Given the description of an element on the screen output the (x, y) to click on. 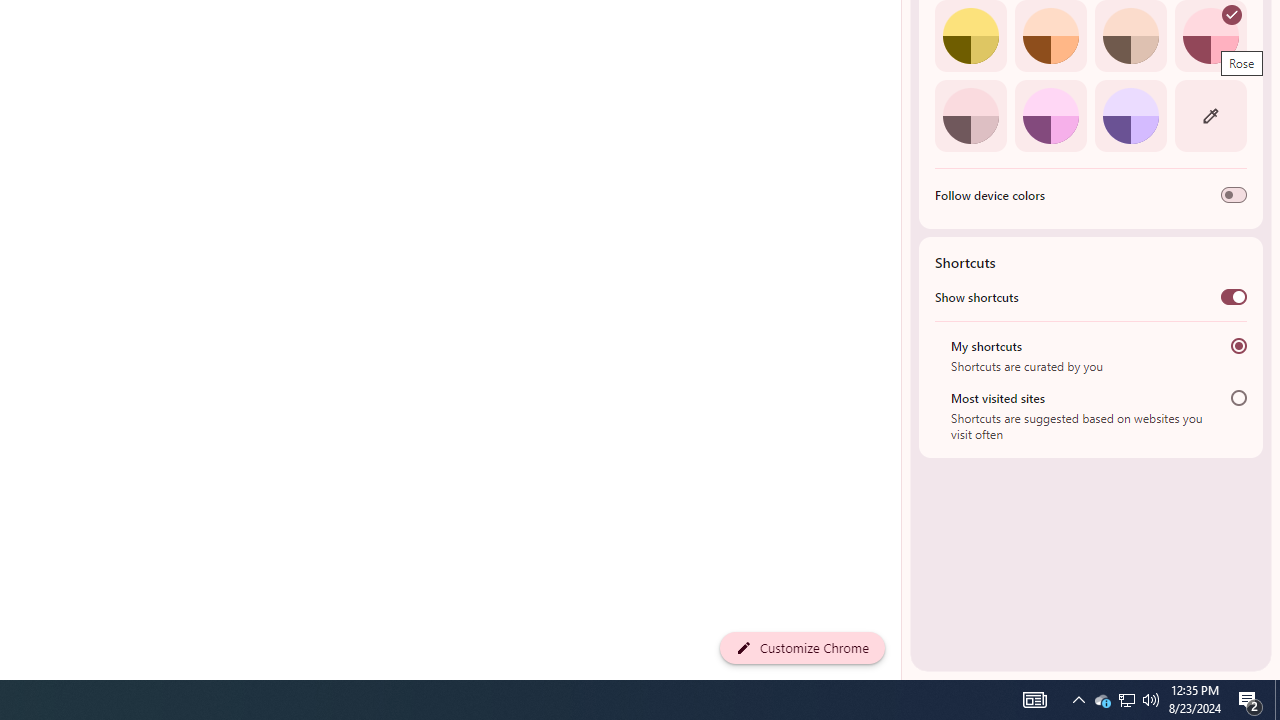
My shortcuts (1238, 345)
Custom color (1210, 115)
AutomationID: svg (1231, 15)
Follow device colors (1233, 195)
Pink (970, 115)
Violet (1130, 115)
Side Panel Resize Handle (905, 39)
Fuchsia (1050, 115)
Orange (1050, 36)
Citron (970, 36)
Rose (1210, 36)
Most visited sites (1238, 398)
Apricot (1130, 36)
